Given the description of an element on the screen output the (x, y) to click on. 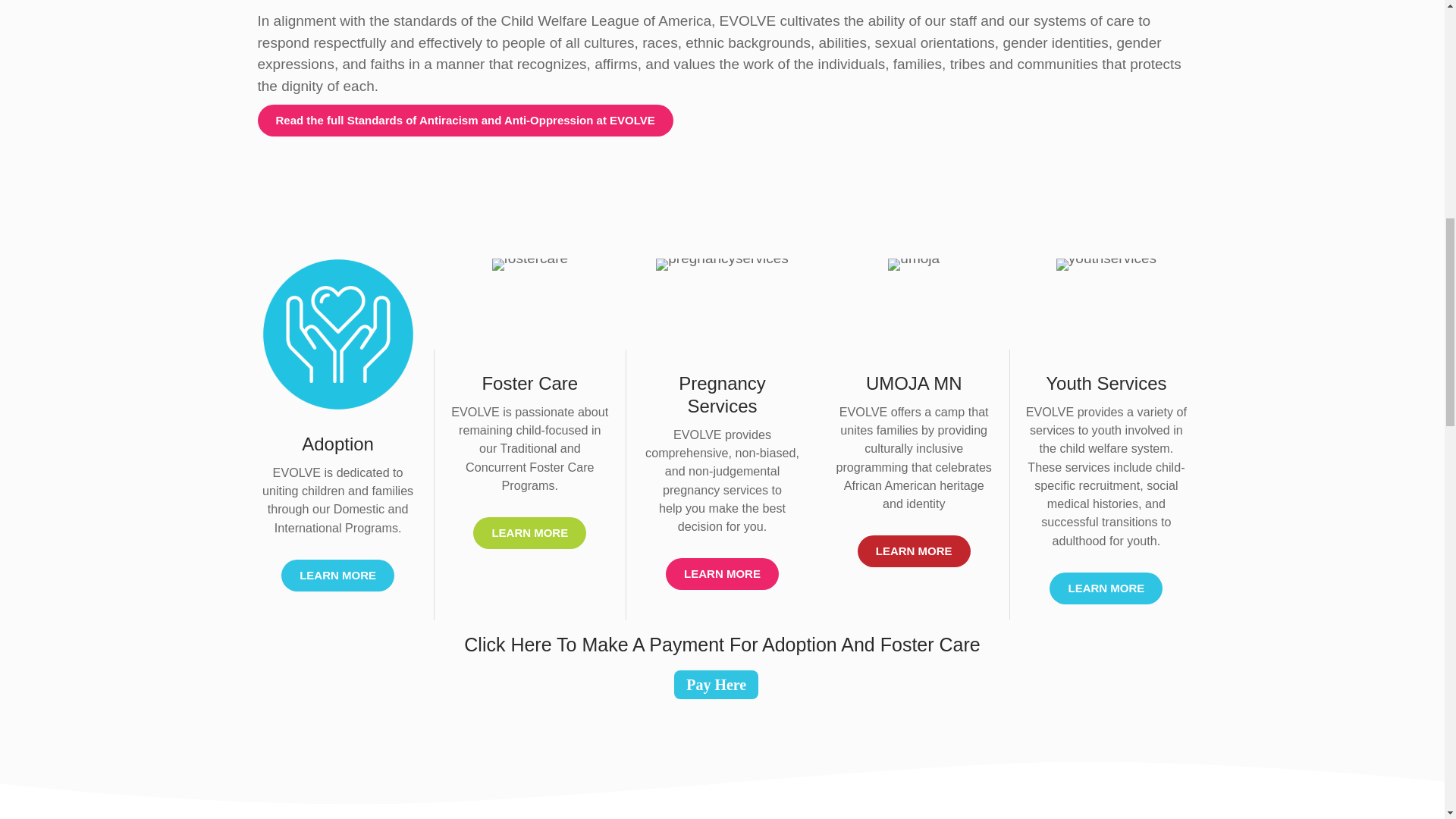
pregnancyservices (721, 264)
adoption (337, 334)
umoja (913, 264)
youthservices (1106, 264)
fostercare (529, 264)
